Given the description of an element on the screen output the (x, y) to click on. 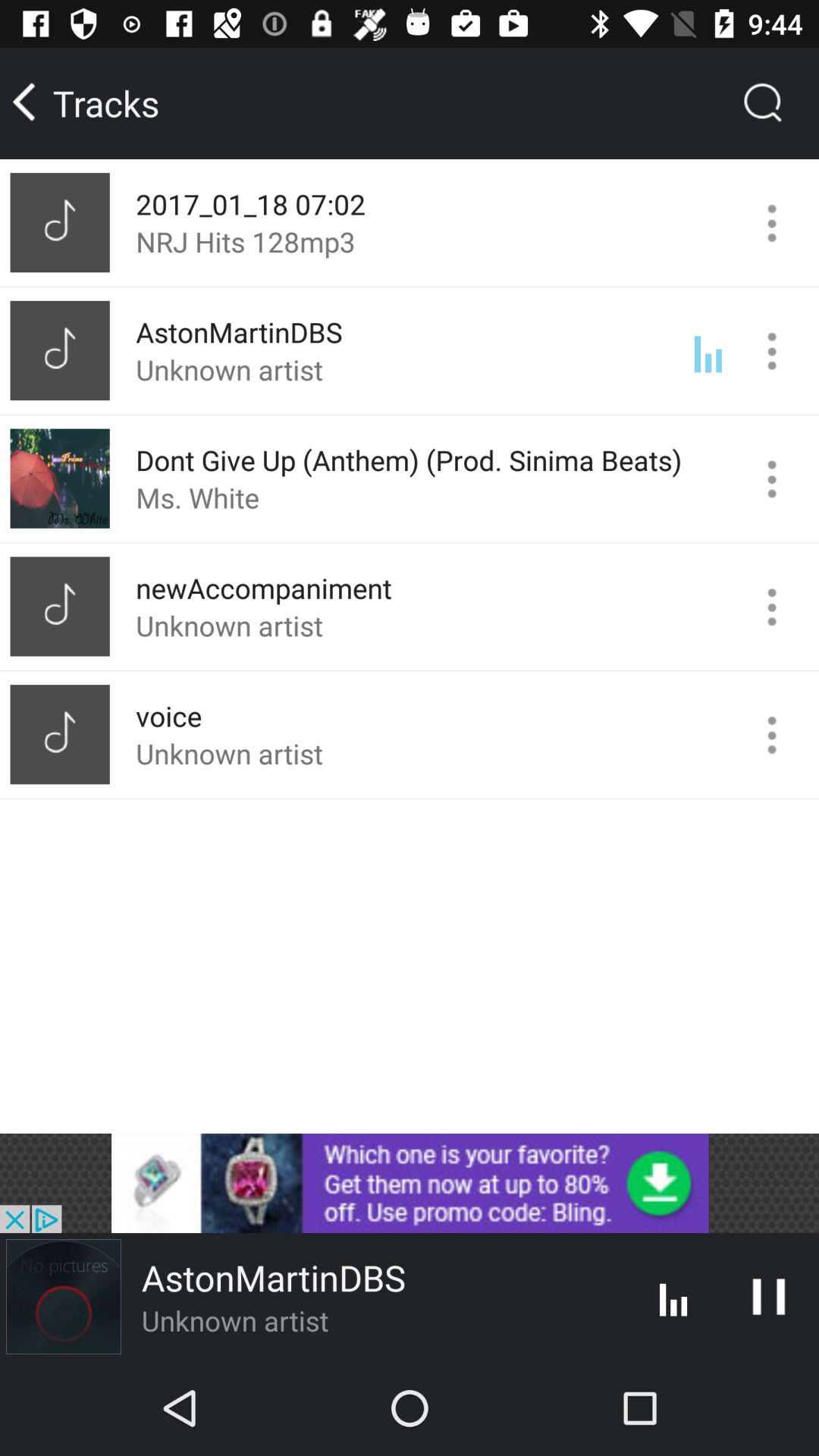
click on the image left to aston martindbs (63, 1296)
click on the button which is at the top right corner of the page (763, 103)
click on mini image left to astonmrtindbs (59, 350)
click on the third image under tracks from top (59, 478)
